Given the description of an element on the screen output the (x, y) to click on. 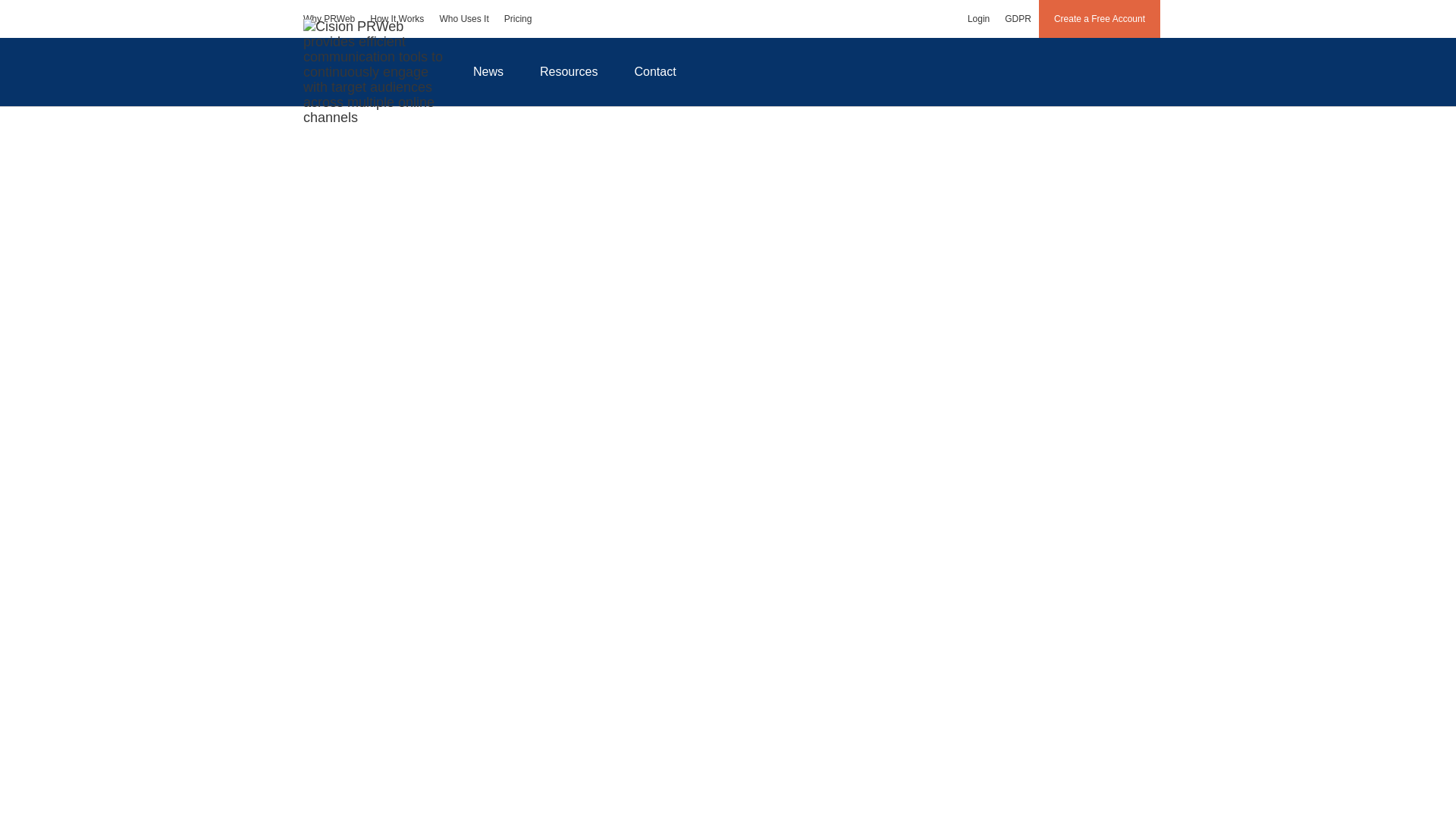
Resources (568, 71)
How It Works (396, 18)
Pricing (518, 18)
News (487, 71)
Login (978, 18)
Contact (654, 71)
GDPR (1018, 18)
Create a Free Account (1099, 18)
Who Uses It (463, 18)
Why PRWeb (328, 18)
